Given the description of an element on the screen output the (x, y) to click on. 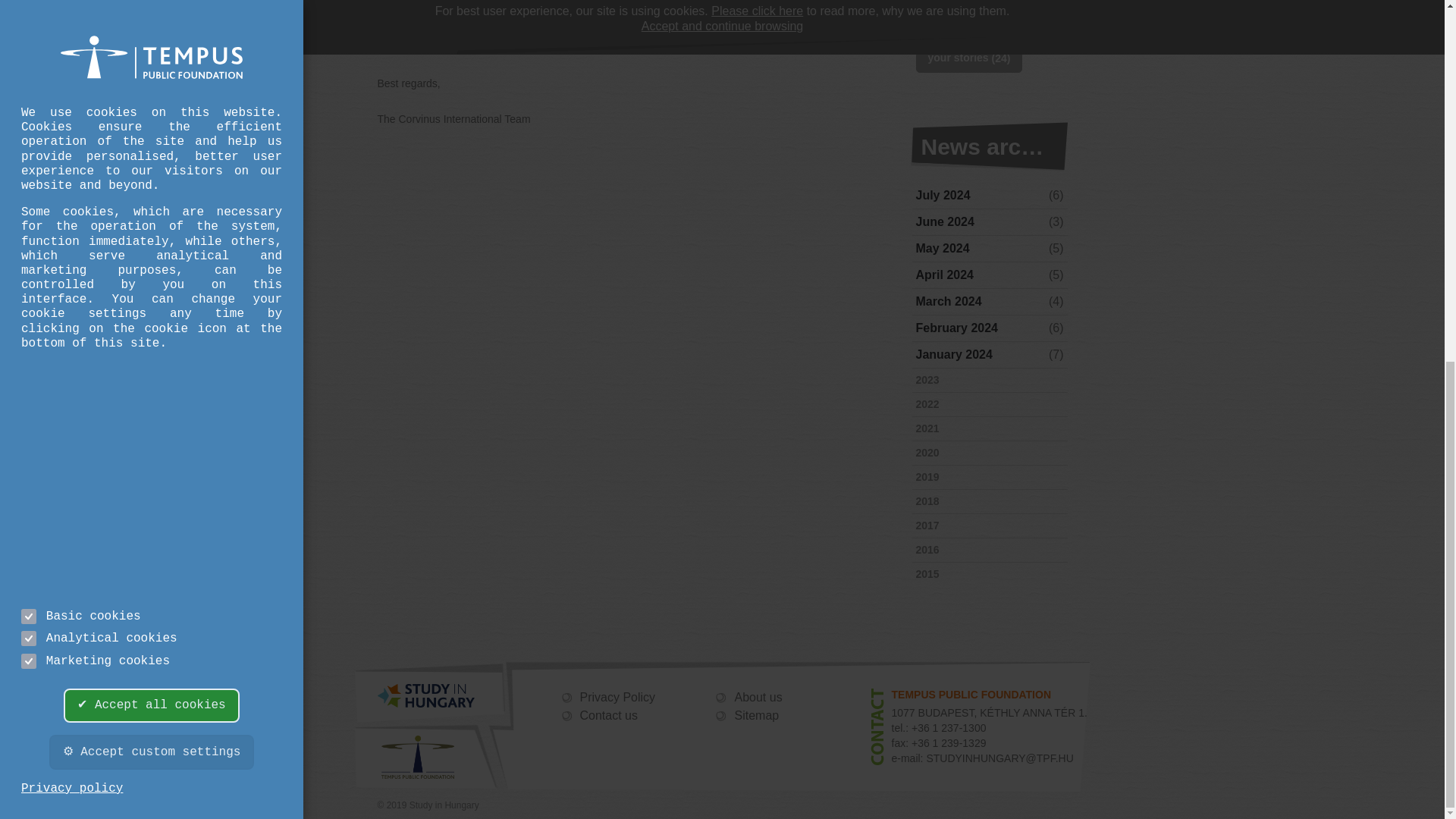
on (28, 18)
on (28, 2)
